Given the description of an element on the screen output the (x, y) to click on. 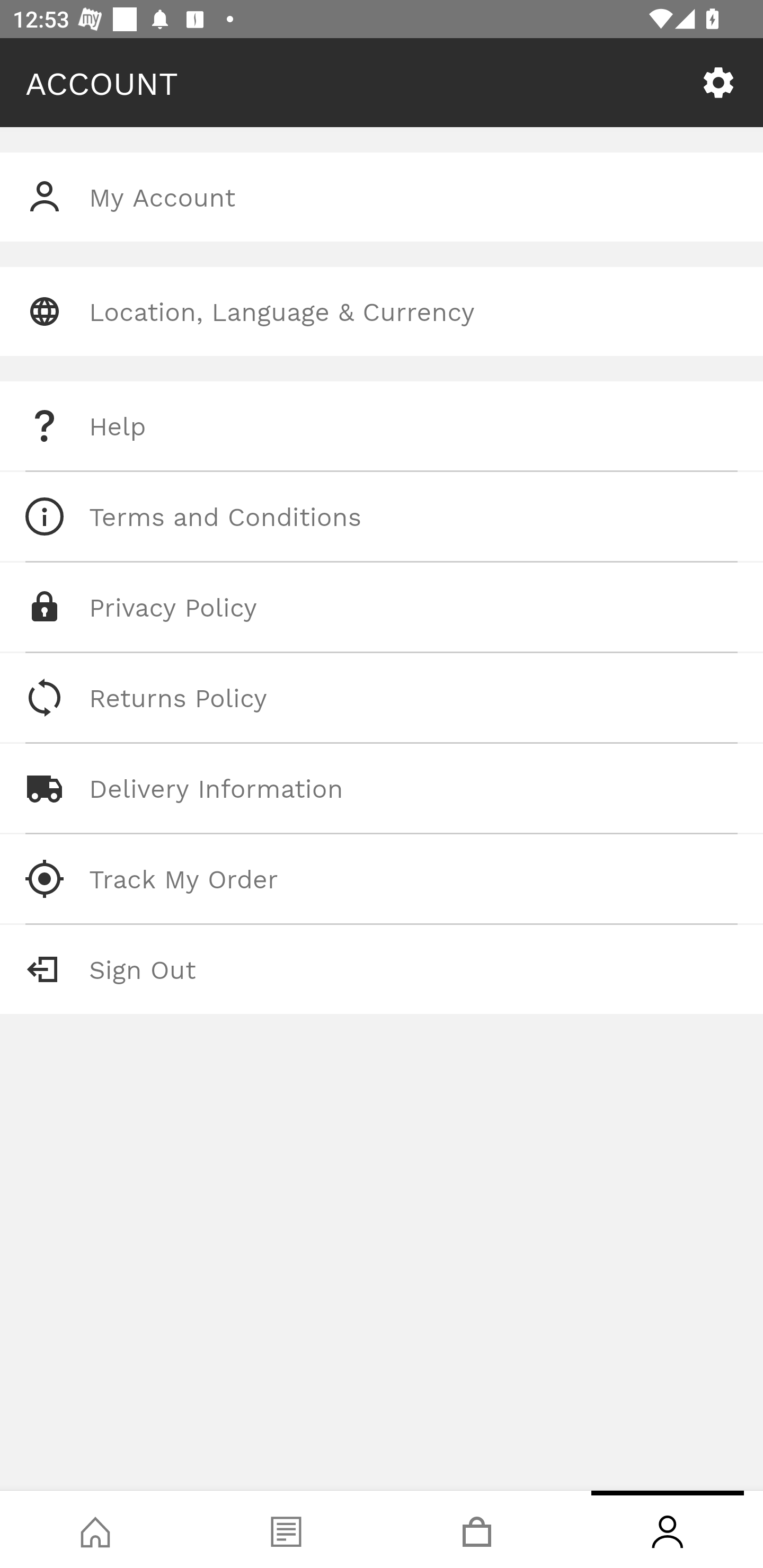
SETTINGS (718, 82)
My Account (381, 196)
Location, Language & Currency (381, 310)
Help (381, 425)
Terms and Conditions (381, 516)
Privacy Policy (381, 607)
Returns Policy (381, 697)
Delivery Information (381, 787)
Track My Order (381, 878)
Sign Out (381, 969)
Shop, tab, 1 of 4 (95, 1529)
Blog, tab, 2 of 4 (285, 1529)
Basket, tab, 3 of 4 (476, 1529)
Account, tab, 4 of 4 (667, 1529)
